Given the description of an element on the screen output the (x, y) to click on. 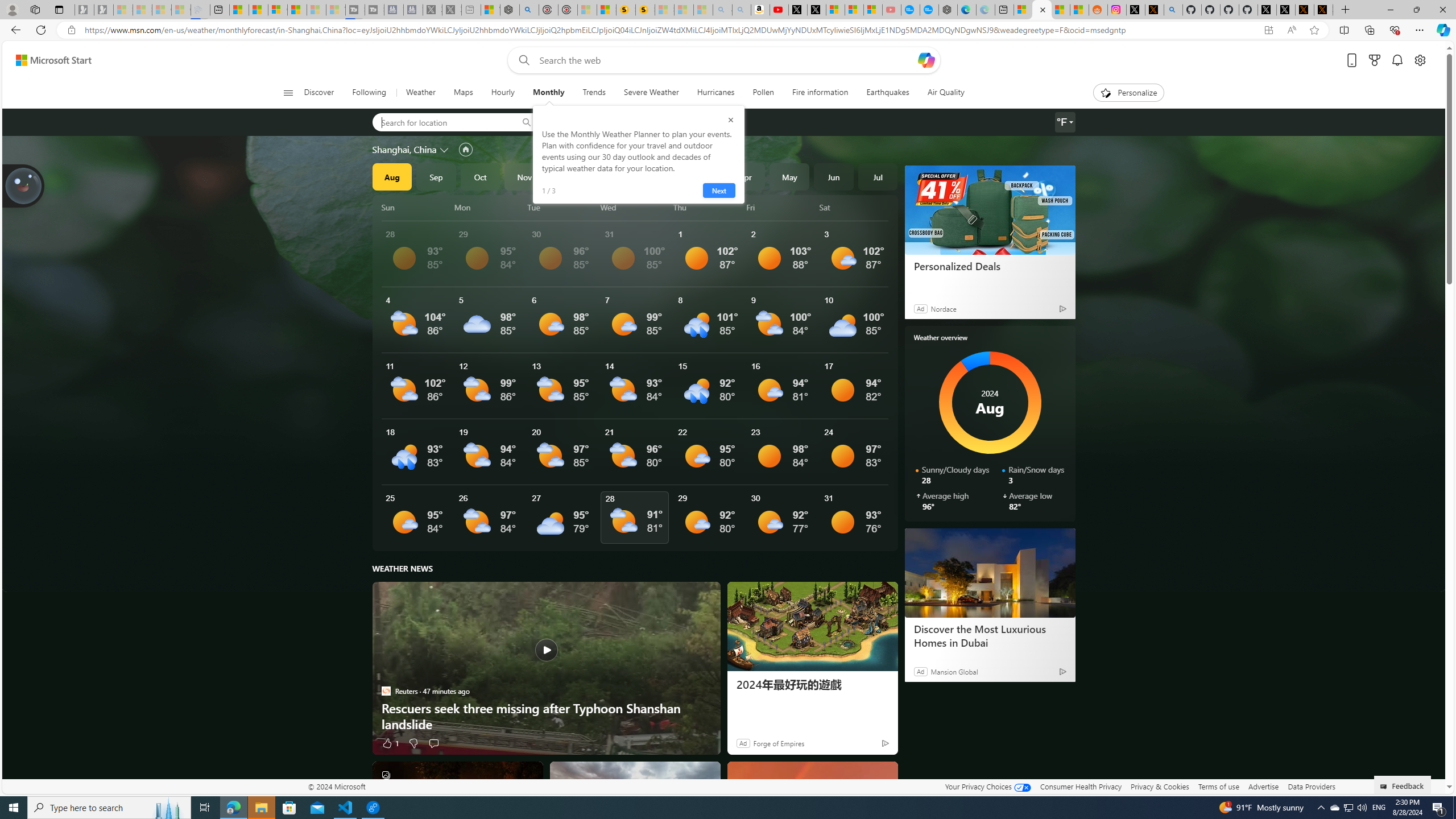
Aug (391, 176)
amazon - Search - Sleeping (721, 9)
1 Like (390, 742)
Remove location (653, 122)
Dec (568, 176)
May (789, 176)
Log in to X / X (1135, 9)
Skip to footer (46, 59)
Profile / X (1267, 9)
